Given the description of an element on the screen output the (x, y) to click on. 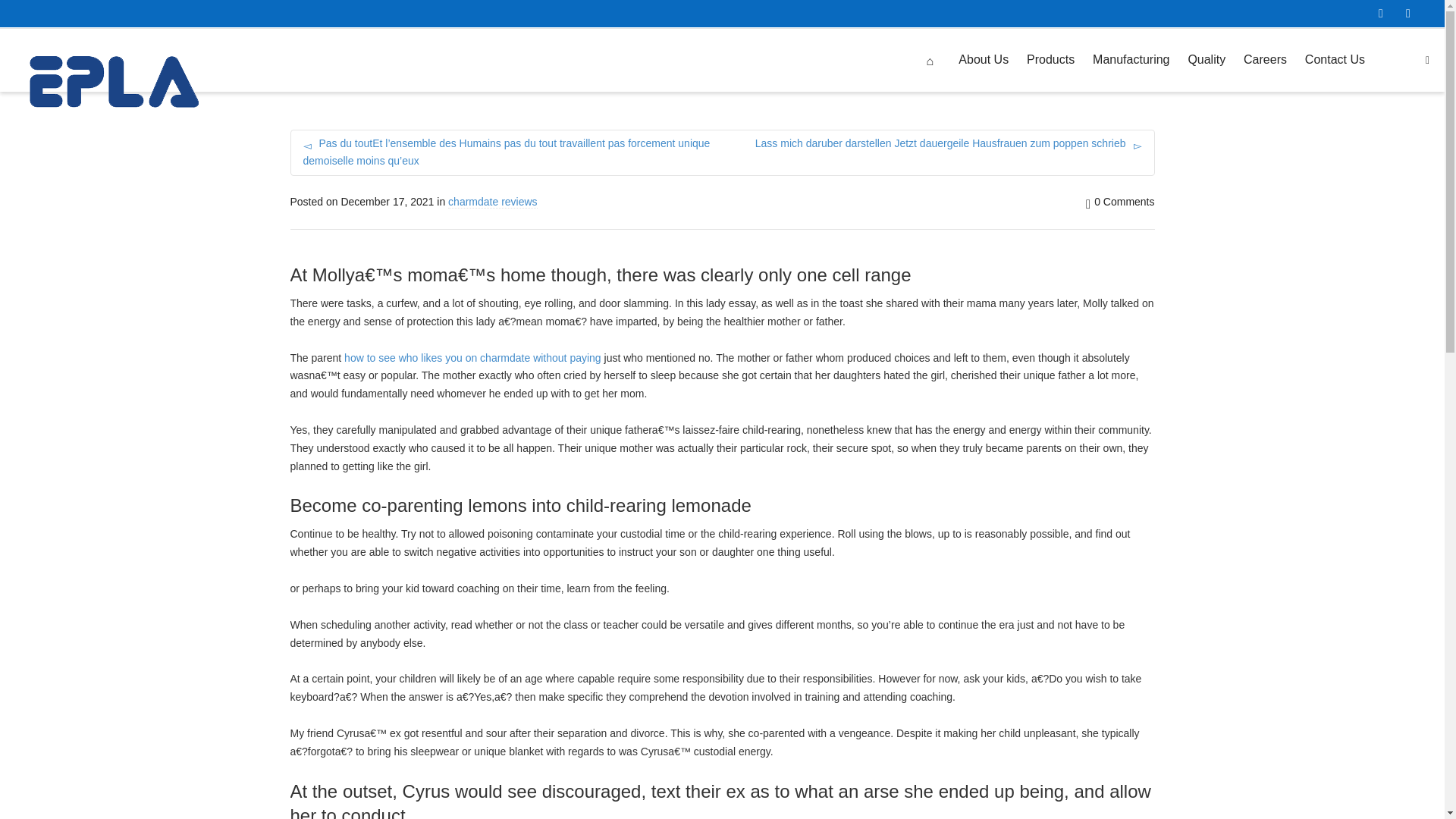
About Us (983, 60)
Products (1050, 60)
